Given the description of an element on the screen output the (x, y) to click on. 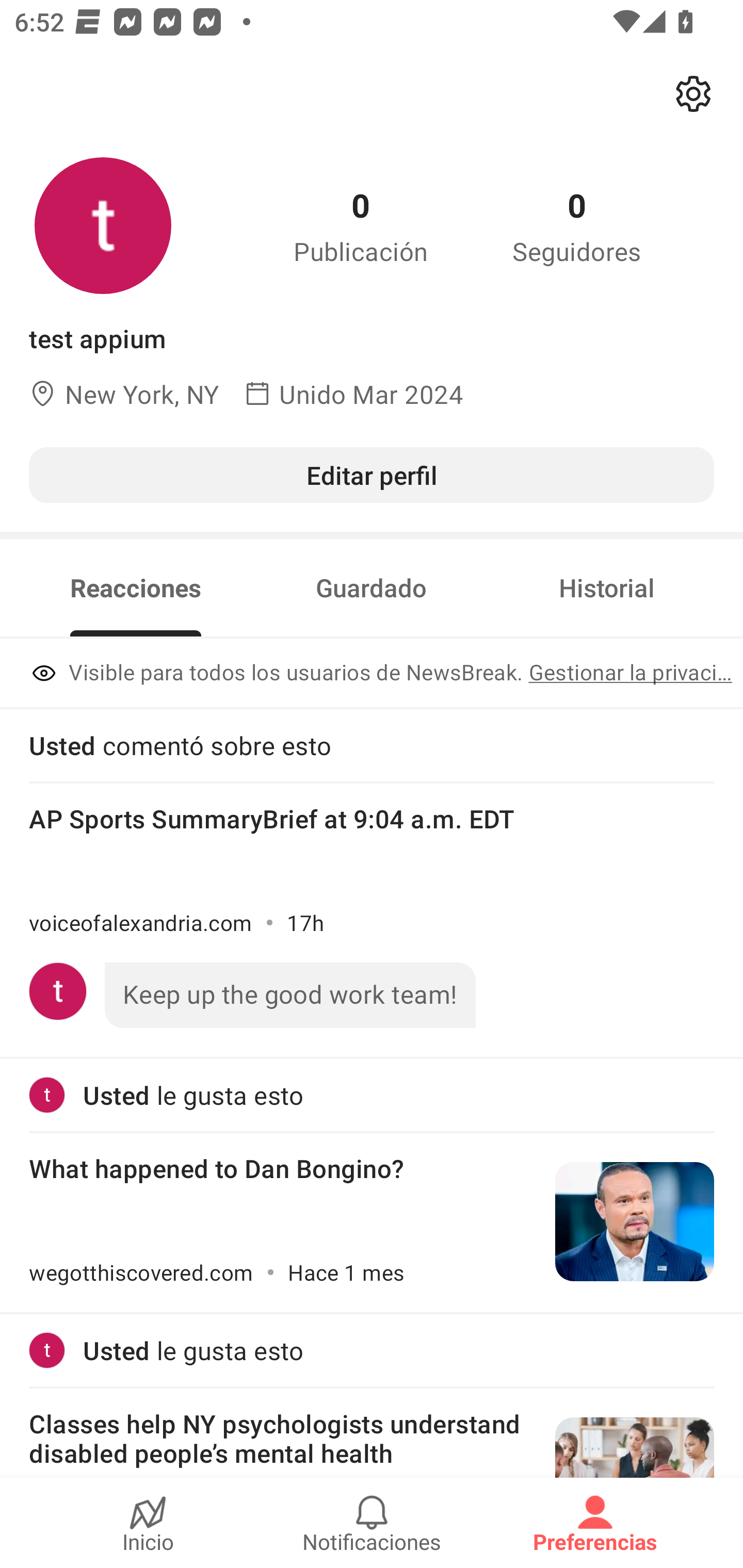
0 Seguidores (576, 225)
Editar perfil (371, 474)
Guardado (370, 587)
Historial (606, 587)
Inicio (148, 1522)
Notificaciones (371, 1522)
